Given the description of an element on the screen output the (x, y) to click on. 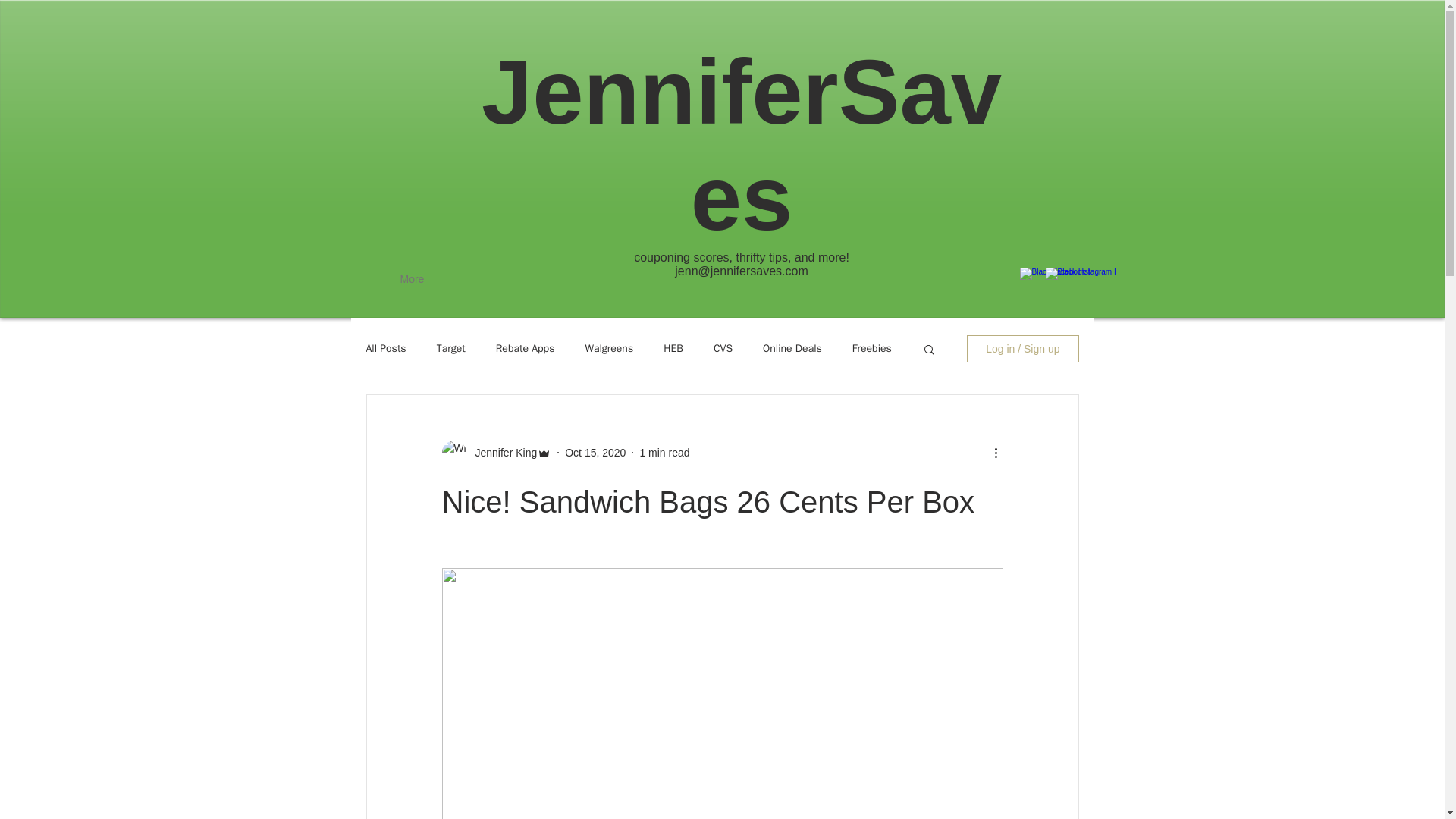
JenniferSaves (741, 144)
HEB (672, 348)
Freebies (871, 348)
Rebate Apps (525, 348)
All Posts (385, 348)
CVS (722, 348)
Walgreens (609, 348)
Online Deals (792, 348)
Target (450, 348)
Oct 15, 2020 (595, 451)
1 min read (663, 451)
Jennifer King (501, 452)
